Given the description of an element on the screen output the (x, y) to click on. 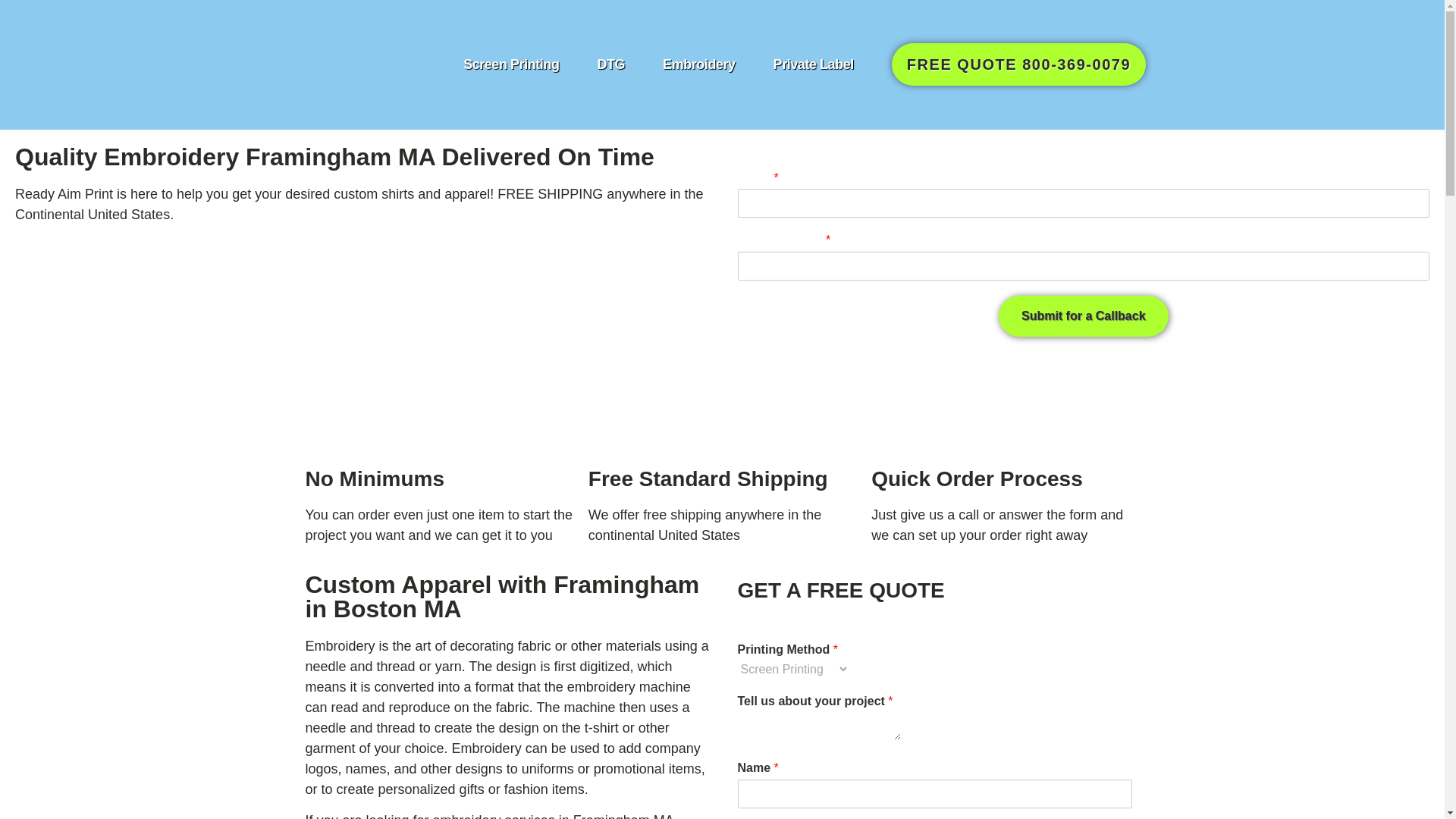
Private Label (813, 64)
DTG (610, 64)
Submit for a Callback (1083, 315)
FREE QUOTE 800-369-0079 (1018, 64)
Screen Printing (510, 64)
fast icon main svg town (1005, 415)
shipping icon (722, 415)
tshirt-icon (439, 415)
Ready-Aim-print logo 1 (361, 64)
Embroidery (698, 64)
